Given the description of an element on the screen output the (x, y) to click on. 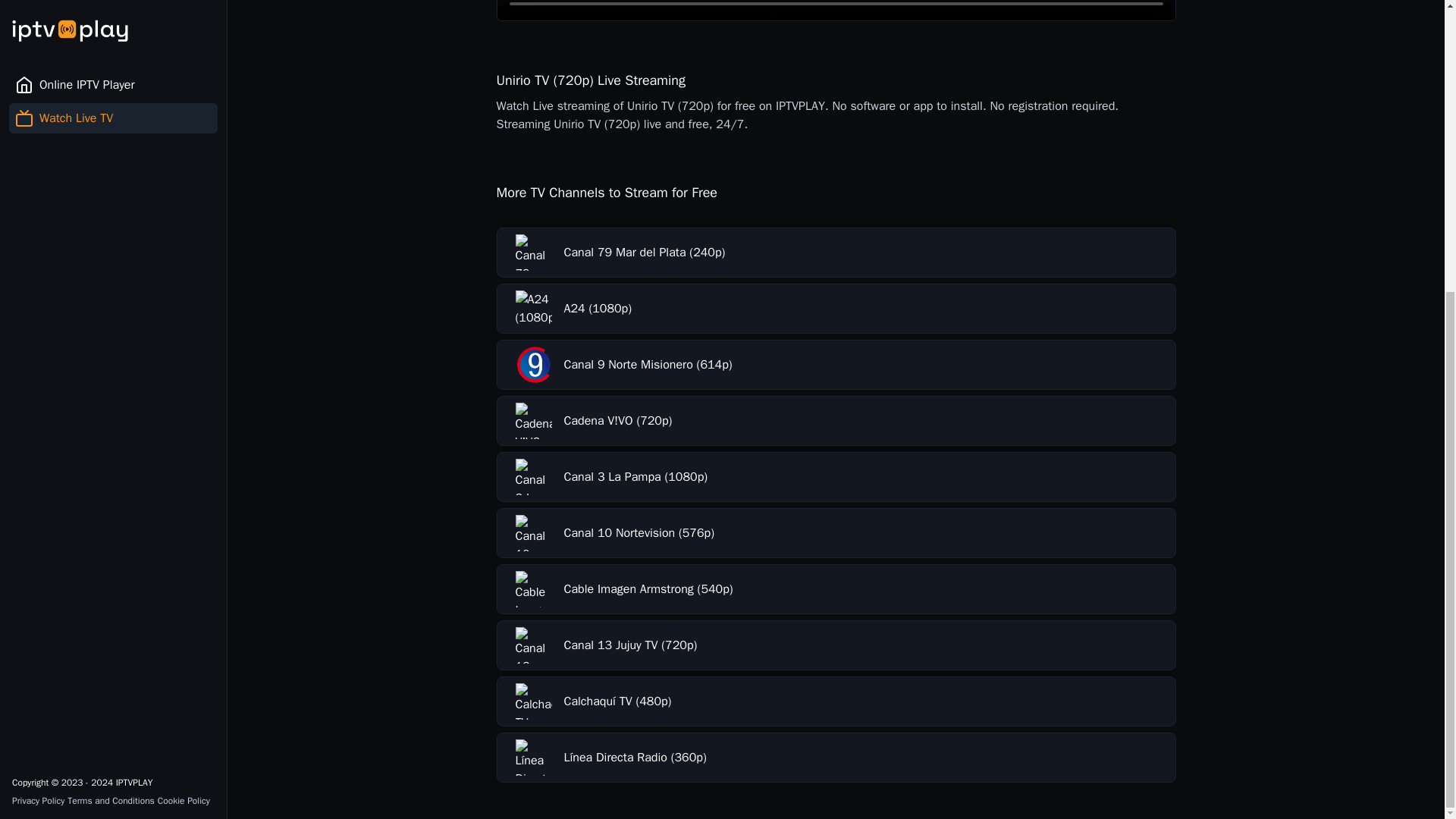
Terms and Conditions (110, 354)
Privacy Policy (37, 354)
Cookie Policy (183, 354)
